Given the description of an element on the screen output the (x, y) to click on. 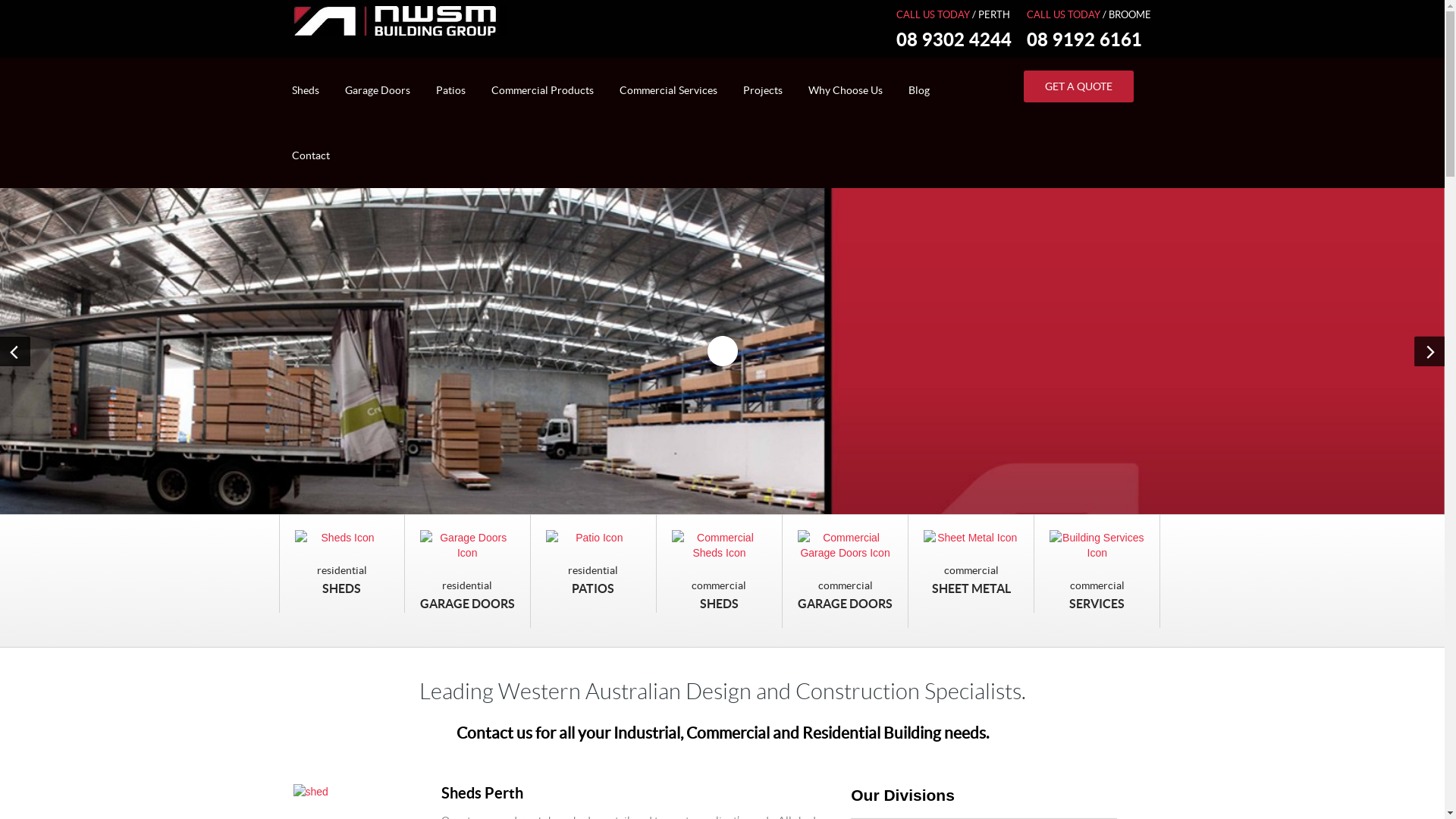
GET A QUOTE Element type: text (1078, 86)
08 9302 4244 Element type: text (953, 40)
commercial
SHEDS Element type: text (719, 570)
commercial
SERVICES Element type: text (1097, 570)
commercial
SHEET METAL Element type: text (971, 563)
Garage Doors Element type: text (377, 89)
Sheds Element type: text (305, 89)
Why Choose Us Element type: text (844, 89)
commercial
GARAGE DOORS Element type: text (845, 570)
Contact Element type: text (310, 155)
Blog Element type: text (917, 89)
Patios Element type: text (450, 89)
residential
GARAGE DOORS Element type: text (467, 570)
Sheds Perth Element type: text (482, 794)
residential
SHEDS Element type: text (341, 563)
residential
PATIOS Element type: text (593, 563)
Commercial Services Element type: text (668, 89)
08 9192 6161 Element type: text (1084, 40)
Projects Element type: text (761, 89)
Commercial Products Element type: text (541, 89)
